Given the description of an element on the screen output the (x, y) to click on. 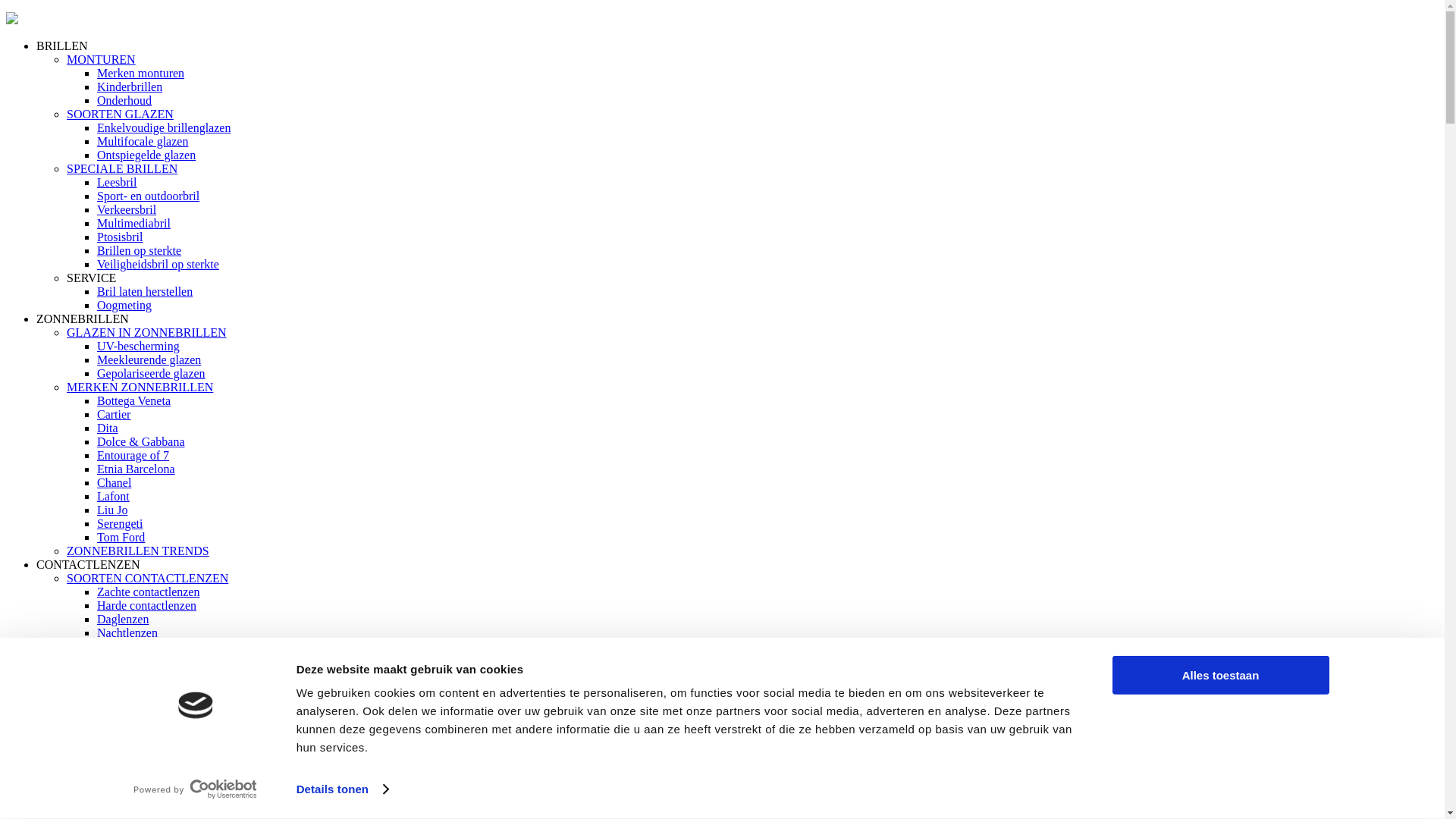
Nachtlenzen Element type: text (127, 632)
Onderhoud Element type: text (124, 100)
Torische lenzen Element type: text (135, 686)
Brillen op sterkte Element type: text (139, 250)
Verzorging contactlenzen Element type: text (158, 714)
MEER OVER CONTACTLENZEN Element type: text (154, 700)
Vaakgestelde vragen over Contactlenzen Element type: text (195, 768)
Verkeersbril Element type: text (126, 209)
MERKEN ZONNEBRILLEN Element type: text (139, 386)
Ontspiegelde glazen Element type: text (146, 154)
Etnia Barcelona Element type: text (136, 468)
SPECIALE BRILLEN Element type: text (121, 168)
SOORTEN CONTACTLENZEN Element type: text (147, 577)
Harde contactlenzen Element type: text (146, 605)
Dita Element type: text (107, 427)
Serengeti Element type: text (119, 523)
MONTUREN Element type: text (100, 59)
Meekleurende glazen Element type: text (148, 359)
Sport- en outdoorbril Element type: text (148, 195)
Tom Ford Element type: text (120, 536)
Starten met lenzen Element type: text (142, 727)
GLAZEN IN ZONNEBRILLEN Element type: text (146, 332)
Lenzen op reis Element type: text (132, 755)
Daglenzen Element type: text (122, 618)
SOORTEN GLAZEN Element type: text (119, 113)
Leesbril Element type: text (116, 181)
Oogmeting Element type: text (124, 809)
Alles toestaan Element type: text (1219, 674)
UV-bescherming Element type: text (138, 345)
Chanel Element type: text (114, 482)
Entourage of 7 Element type: text (133, 454)
Merken monturen Element type: text (140, 72)
Zachte contactlenzen Element type: text (148, 591)
ZONNEBRILLEN TRENDS Element type: text (137, 550)
Multifocale glazen Element type: text (142, 140)
CONTACTLENZEN Element type: text (87, 564)
DIENSTEN Element type: text (95, 796)
Multimediabril Element type: text (133, 222)
Maandlenzen Element type: text (129, 673)
ZONNEBRILLEN Element type: text (82, 318)
SERVICE Element type: text (91, 277)
Cartier Element type: text (113, 413)
Multifocale contactlenzen Element type: text (160, 646)
Veiligheidsbril op sterkte Element type: text (158, 263)
Kinderbrillen Element type: text (129, 86)
Details tonen Element type: text (342, 789)
Oogmeting Element type: text (124, 304)
Dolce & Gabbana Element type: text (141, 441)
Twee weeklenzen Element type: text (140, 659)
Bottega Veneta Element type: text (133, 400)
Liu Jo Element type: text (112, 509)
Enkelvoudige brillenglazen Element type: text (163, 127)
BRILLEN Element type: text (61, 45)
OOGMETING Element type: text (72, 782)
Bril laten herstellen Element type: text (144, 291)
Lafont Element type: text (113, 495)
Hoe in en uitdoen Element type: text (140, 741)
Ptosisbril Element type: text (119, 236)
Gepolariseerde glazen Element type: text (151, 373)
